Given the description of an element on the screen output the (x, y) to click on. 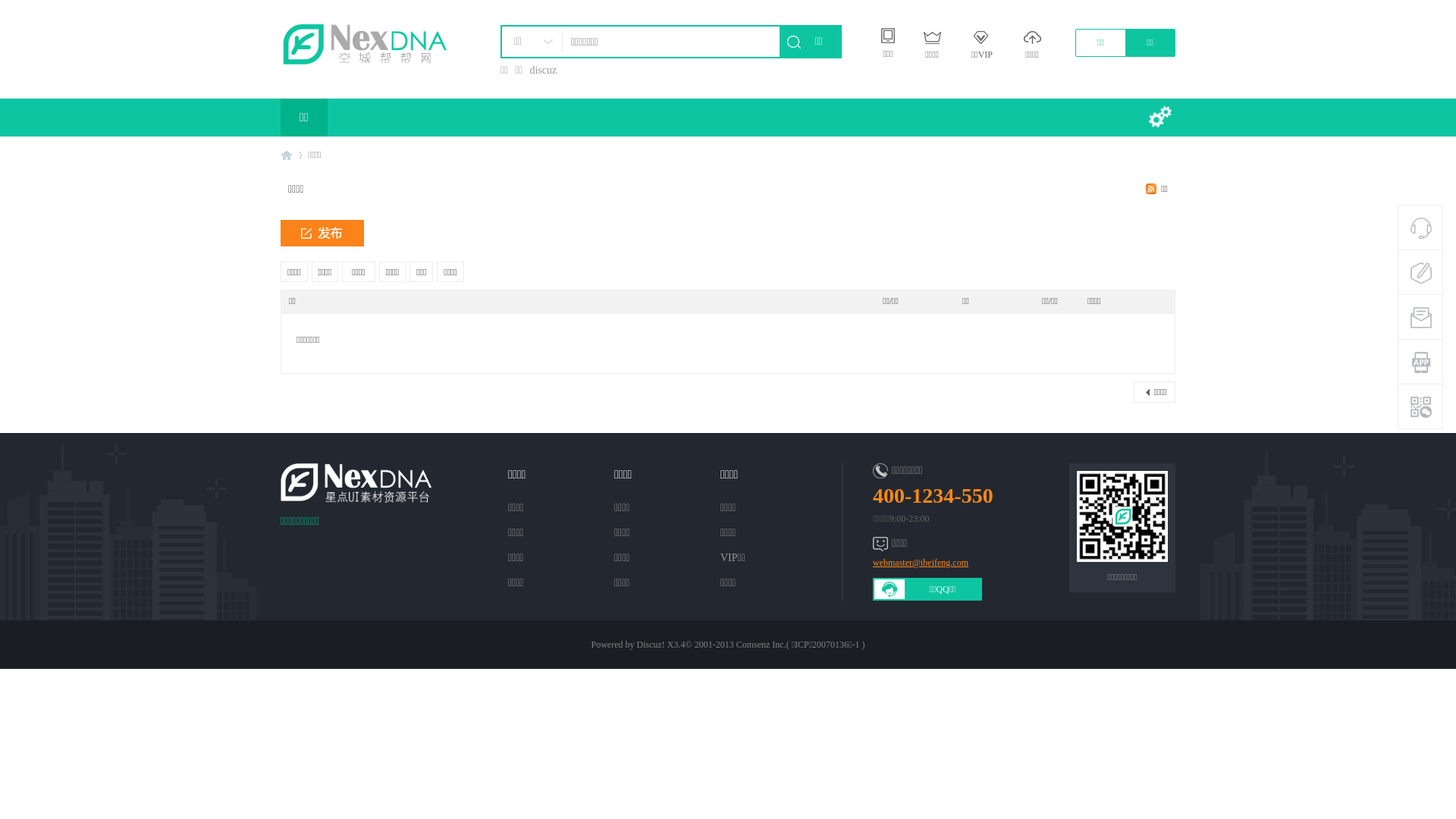
webmaster@ibeifeng.com Element type: text (950, 562)
discuz Element type: text (545, 69)
Comsenz Inc. Element type: text (761, 644)
Discuz! Element type: text (651, 644)
